Given the description of an element on the screen output the (x, y) to click on. 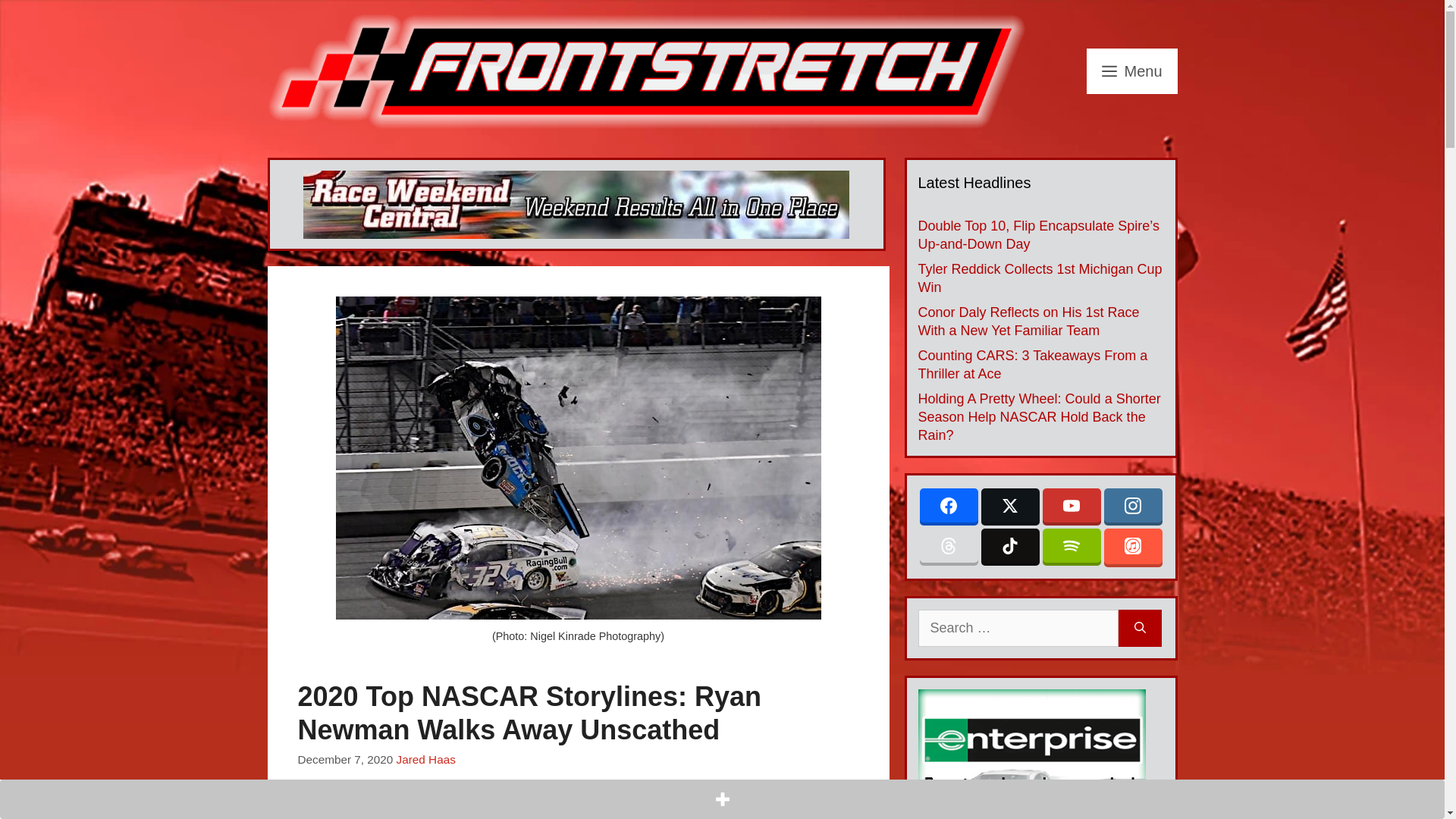
Share on Reddit (376, 809)
Share on Facebook (311, 809)
Share on Email (410, 809)
Jared Haas (425, 758)
Share on Comments (475, 809)
Menu (1131, 71)
Share on Twitter (344, 809)
Share on Copy Link (442, 809)
